Given the description of an element on the screen output the (x, y) to click on. 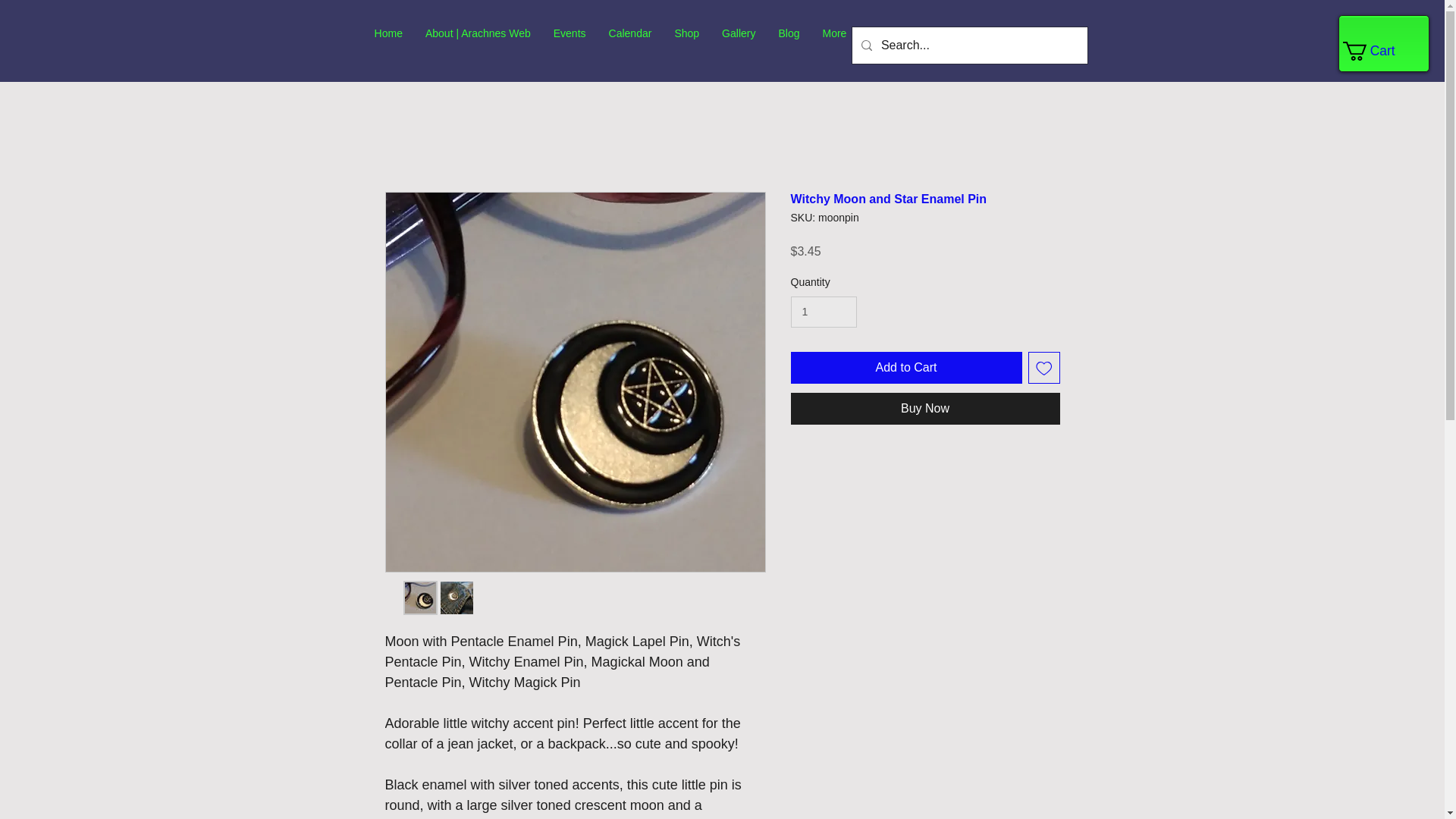
Add to Cart (906, 368)
Blog (788, 45)
Gallery (738, 45)
Shop (686, 45)
Cart (1377, 50)
Buy Now (924, 409)
Calendar (629, 45)
Events (568, 45)
1 (823, 311)
Cart (1377, 50)
